Given the description of an element on the screen output the (x, y) to click on. 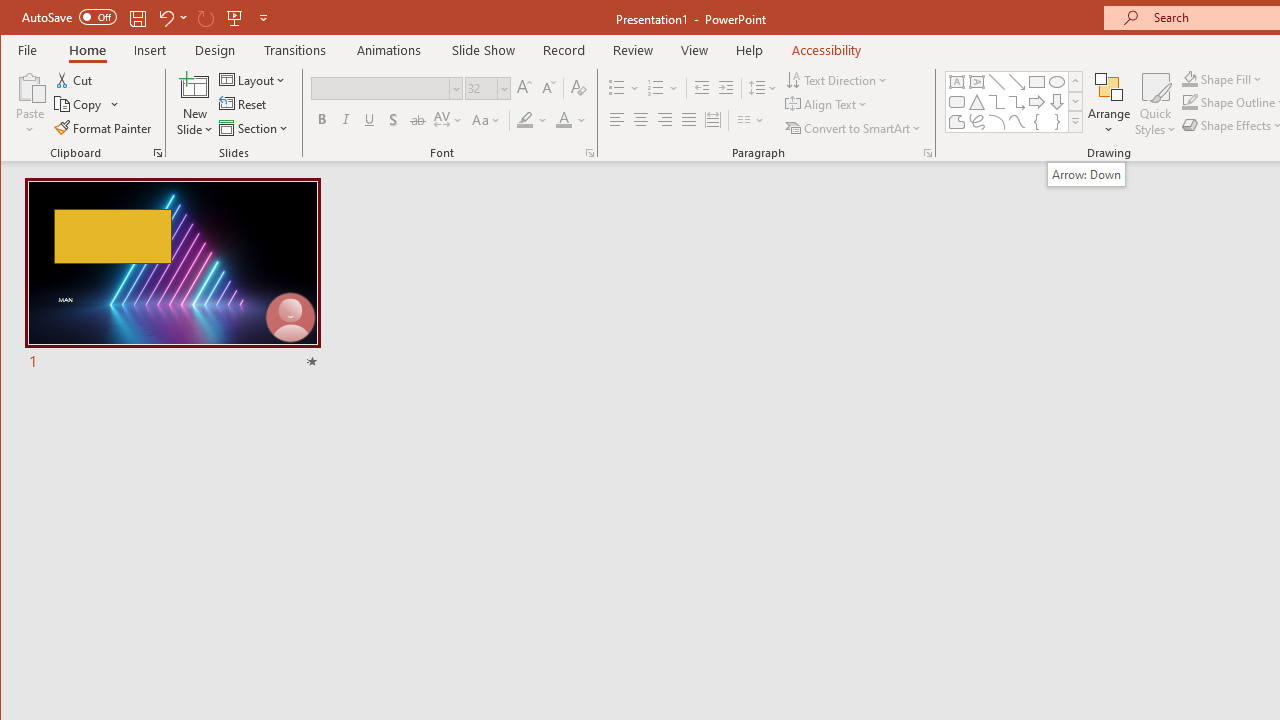
Columns (751, 119)
Distributed (712, 119)
Decrease Indent (701, 88)
Section (255, 127)
Line Spacing (764, 88)
Character Spacing (449, 119)
Vertical Text Box (976, 82)
